Given the description of an element on the screen output the (x, y) to click on. 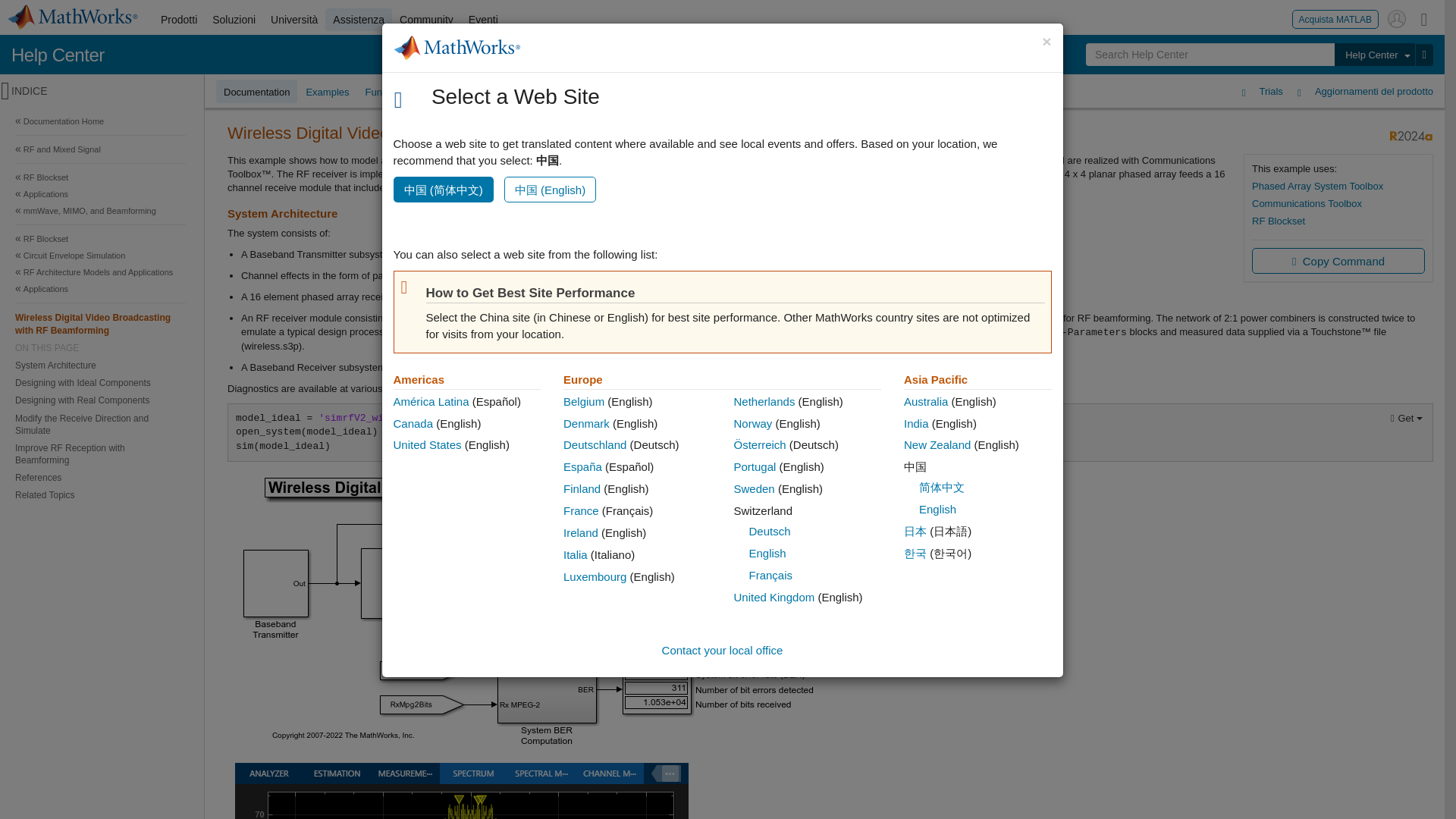
RF and Mixed Signal (100, 149)
mmWave, MIMO, and Beamforming (100, 210)
Community (426, 19)
Matrix Menu (1423, 18)
Acquista MATLAB (1335, 18)
Accedere al proprio MathWorks Account (1396, 18)
Assistenza (357, 19)
ON THIS PAGE (100, 347)
Wireless Digital Video Broadcasting with RF Beamforming (100, 323)
Soluzioni (234, 19)
Help Center (1374, 54)
Eventi (483, 19)
Documentation Home (100, 121)
Prodotti (178, 19)
Help Center (57, 54)
